Given the description of an element on the screen output the (x, y) to click on. 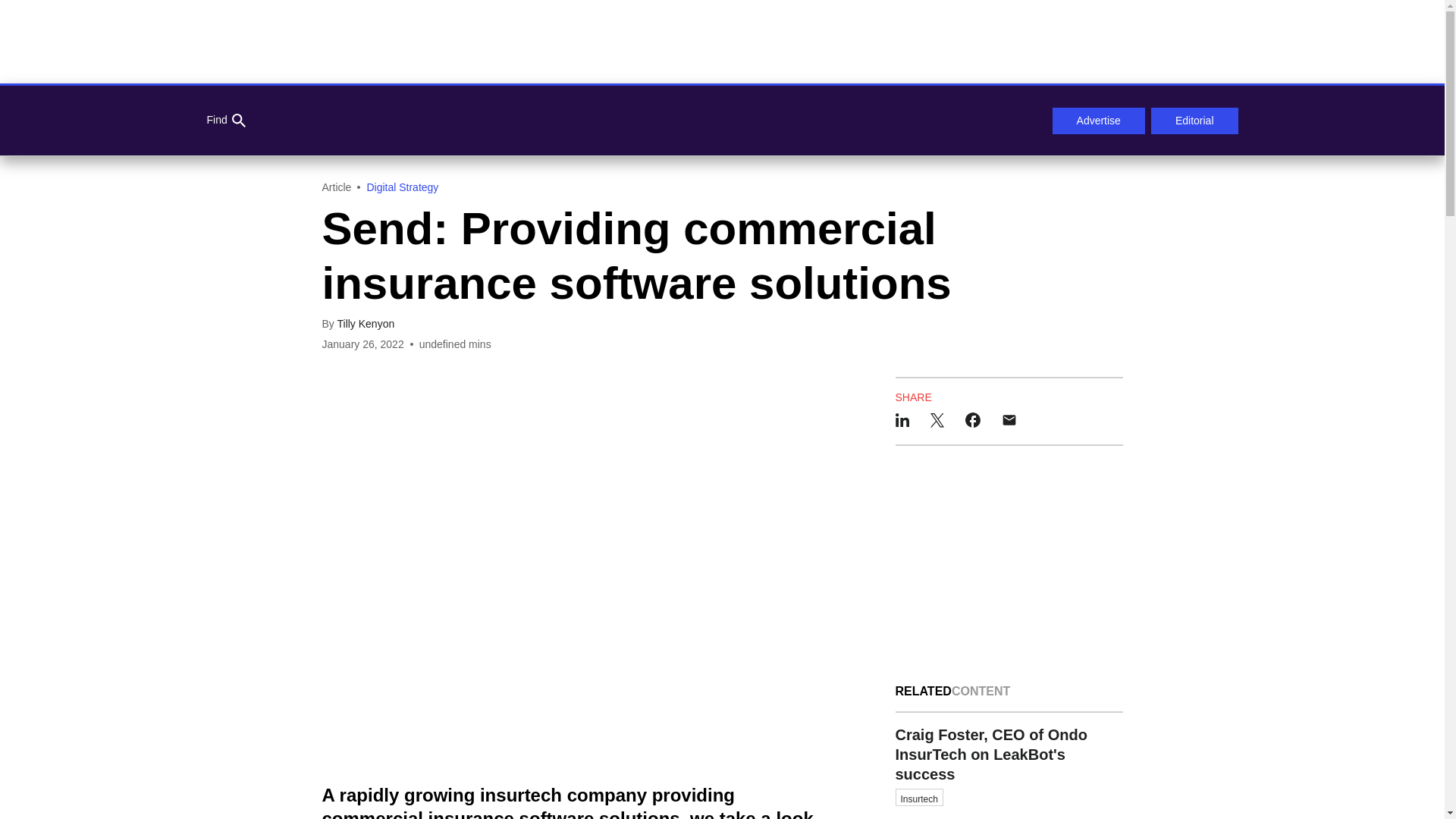
Advertise (1098, 121)
Tilly Kenyon (365, 323)
Editorial (1195, 121)
Find (225, 120)
